Given the description of an element on the screen output the (x, y) to click on. 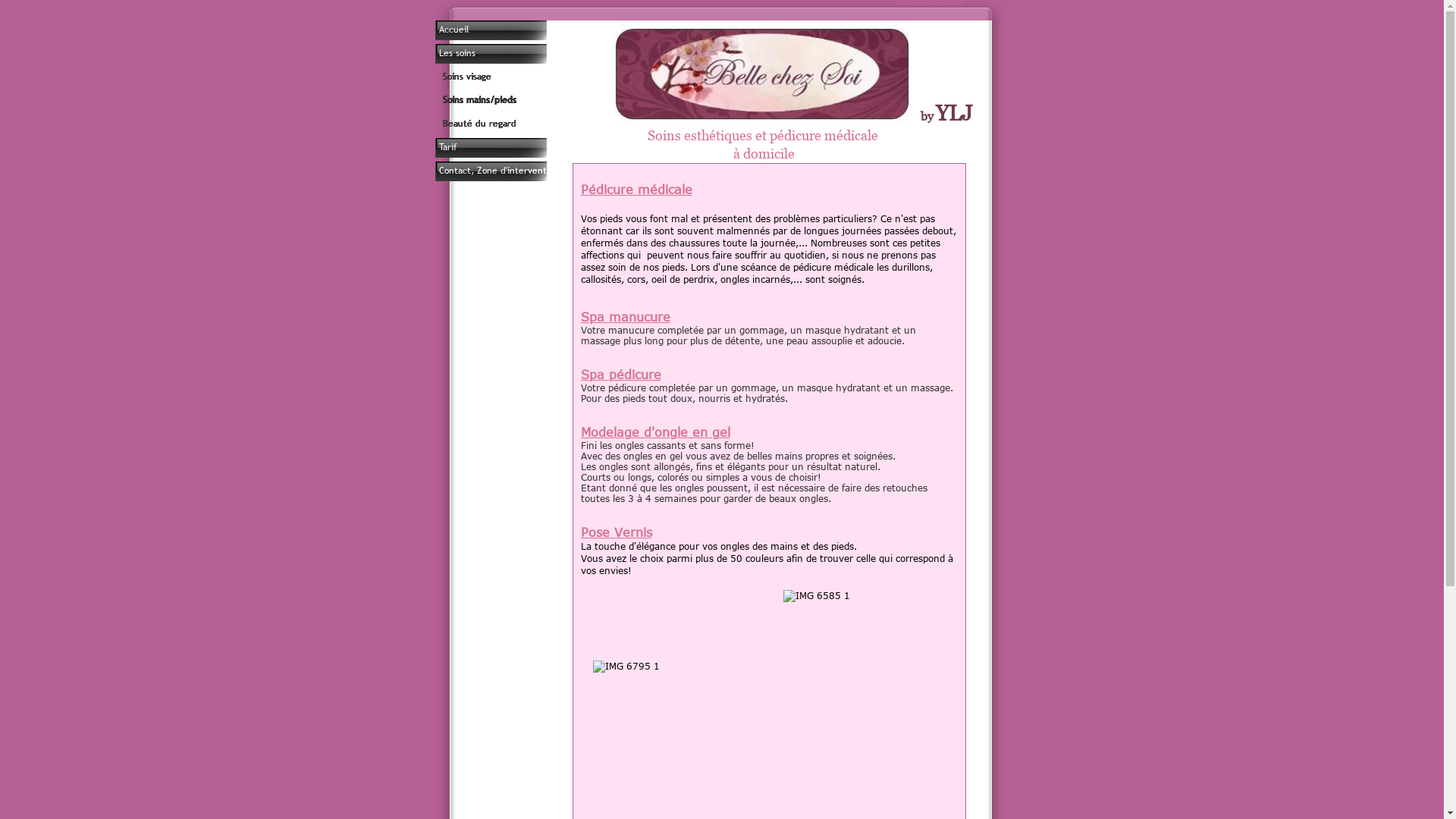
Tarif Element type: text (508, 149)
Tarif Element type: text (510, 149)
Les soins Element type: text (510, 55)
Les soins Element type: text (508, 55)
Accueil Element type: text (509, 31)
Contact, Zone d'intervention Element type: text (508, 173)
Accueil Element type: text (510, 31)
Soins visage Element type: text (510, 79)
Soins mains/pieds Element type: text (510, 102)
Accueil Element type: text (508, 31)
Contact, Zone d'intervention Element type: text (509, 173)
Soins mains/pieds Element type: text (511, 102)
Contact, Zone d'intervention Element type: text (510, 173)
Tarif Element type: text (509, 149)
Soins visage Element type: text (511, 79)
Soins mains/pieds Element type: text (509, 102)
Soins visage Element type: text (509, 79)
Les soins Element type: text (509, 55)
